Given the description of an element on the screen output the (x, y) to click on. 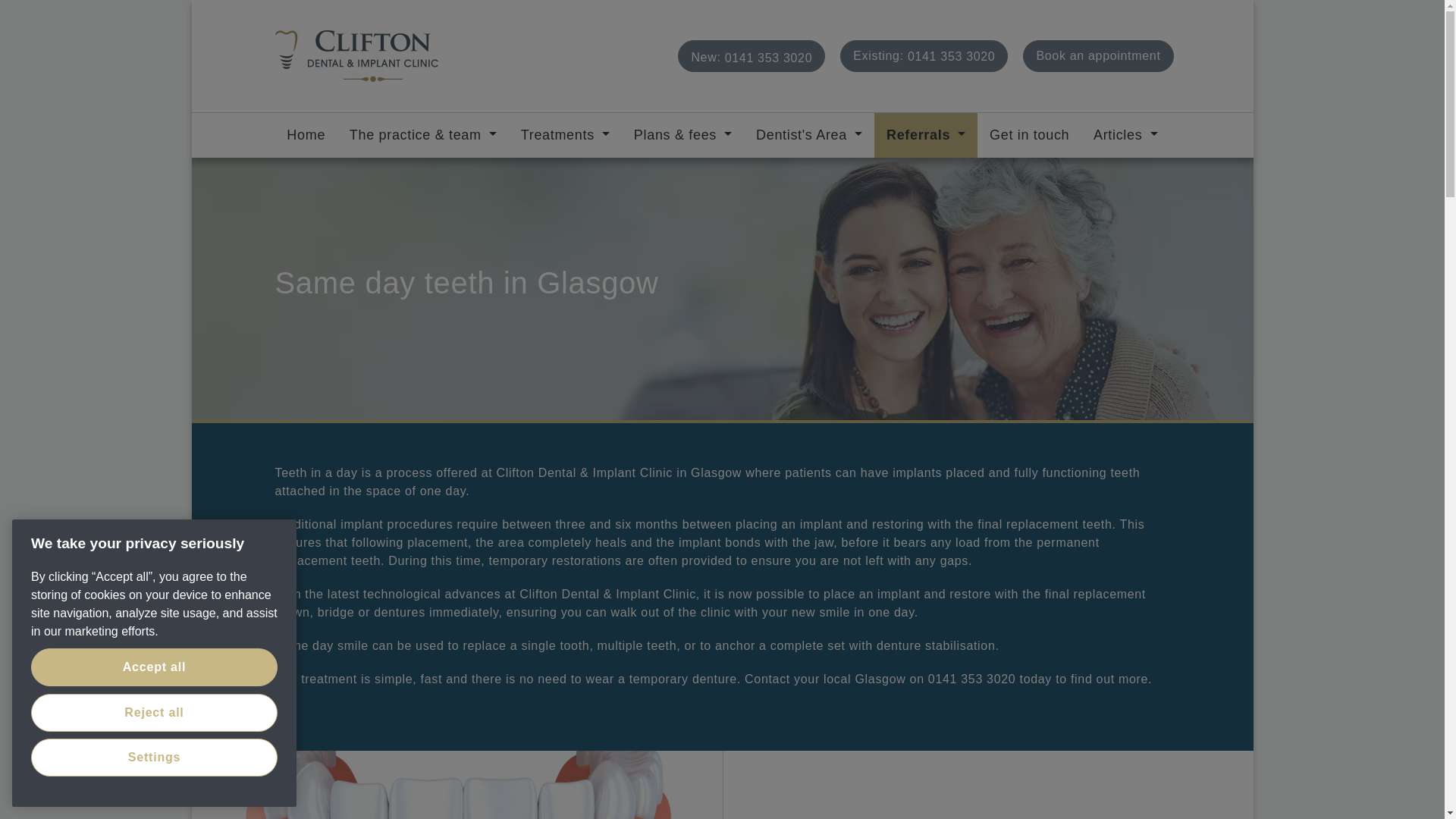
Home (923, 56)
Treatments (305, 133)
New: 0141 353 3020 (564, 133)
